Given the description of an element on the screen output the (x, y) to click on. 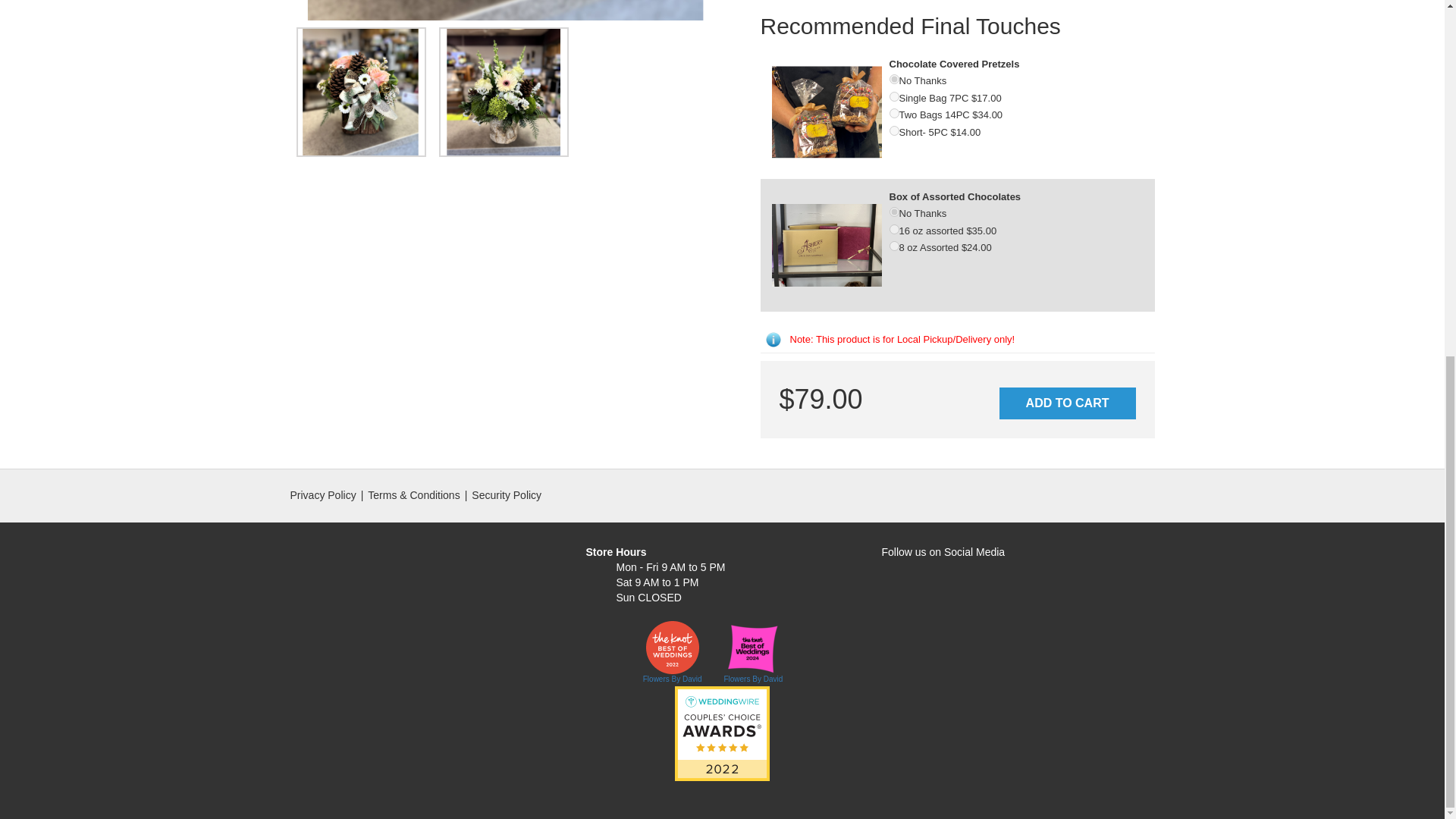
WeddingWire Couples' Choice Award Winner 2022 (722, 732)
0 (893, 212)
0 (893, 79)
2 (893, 112)
Flowers By David (753, 677)
1 (893, 96)
2 (893, 245)
Security Policy (506, 494)
3 (893, 130)
Flowers By David (672, 677)
